Given the description of an element on the screen output the (x, y) to click on. 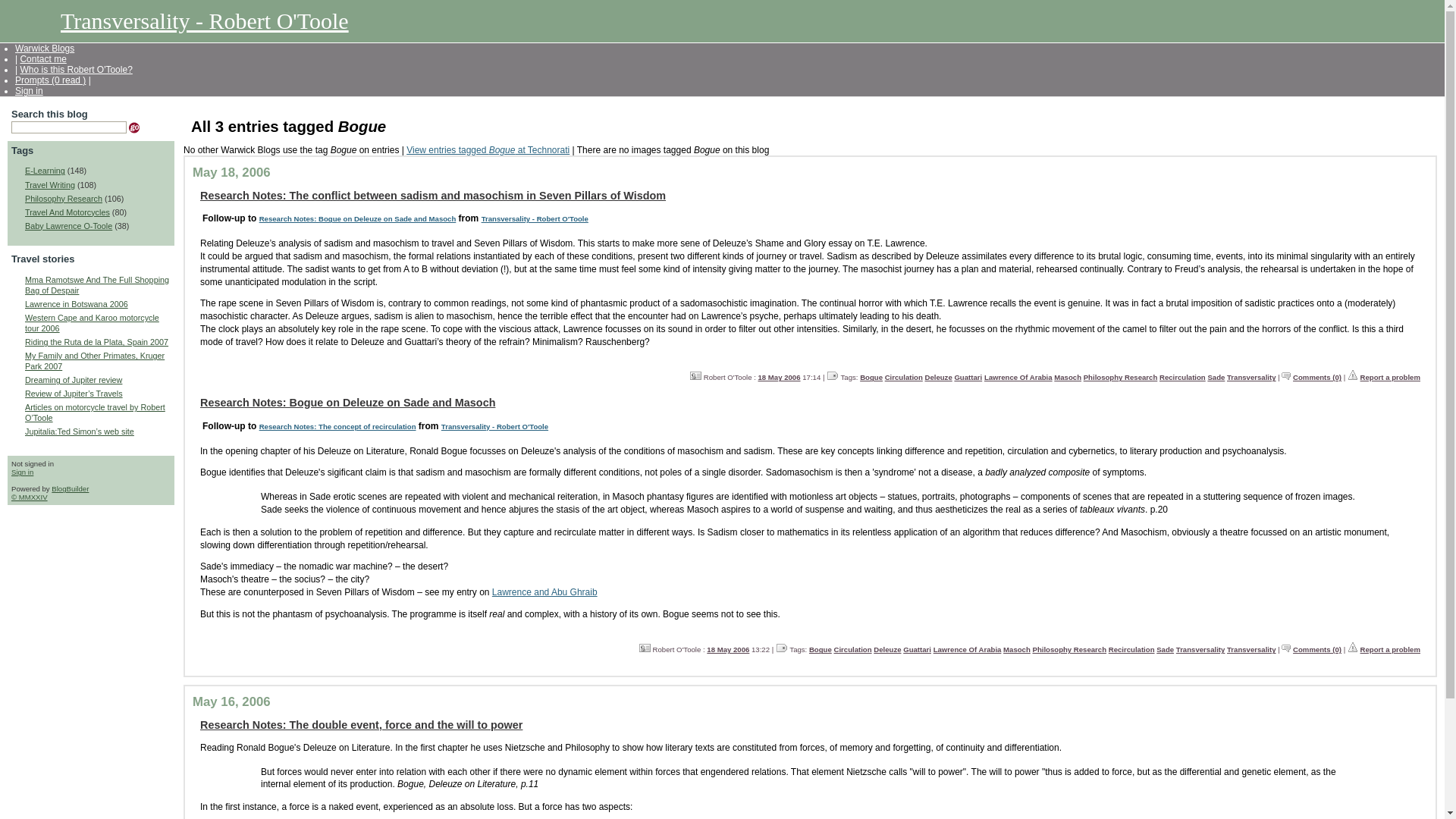
Masoch (1067, 377)
Deleuze (887, 649)
18 May 2006 (727, 649)
Masoch (1016, 649)
View entries tagged Bogue at Technorati (487, 149)
Philosophy Research (1120, 377)
Recirculation (1181, 377)
Circulation (851, 649)
Research Notes: The concept of recirculation (337, 426)
Guattari (967, 377)
